Given the description of an element on the screen output the (x, y) to click on. 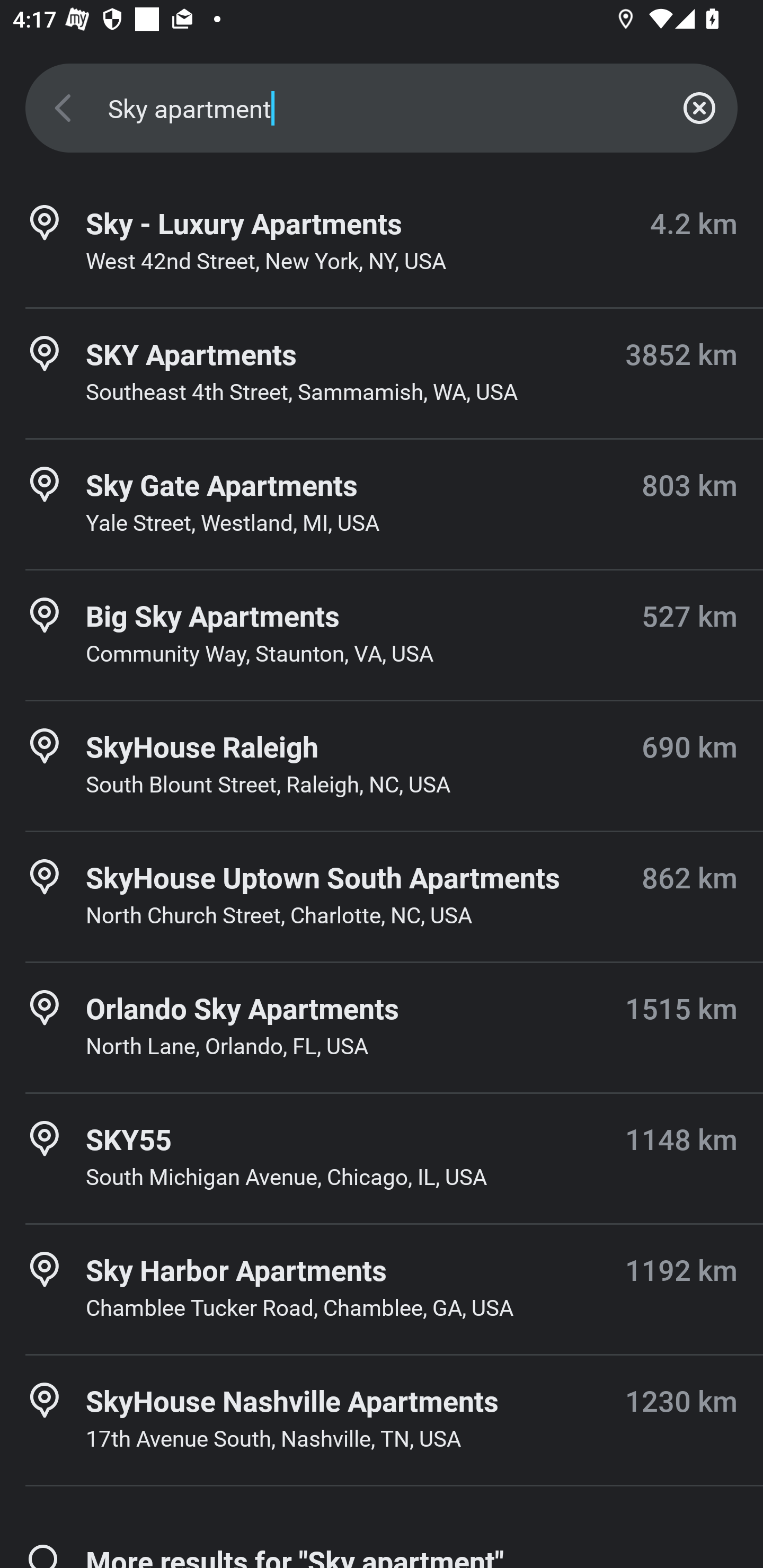
Sky apartment SEARCH_SCREEN_SEARCH_FIELD (381, 108)
